Given the description of an element on the screen output the (x, y) to click on. 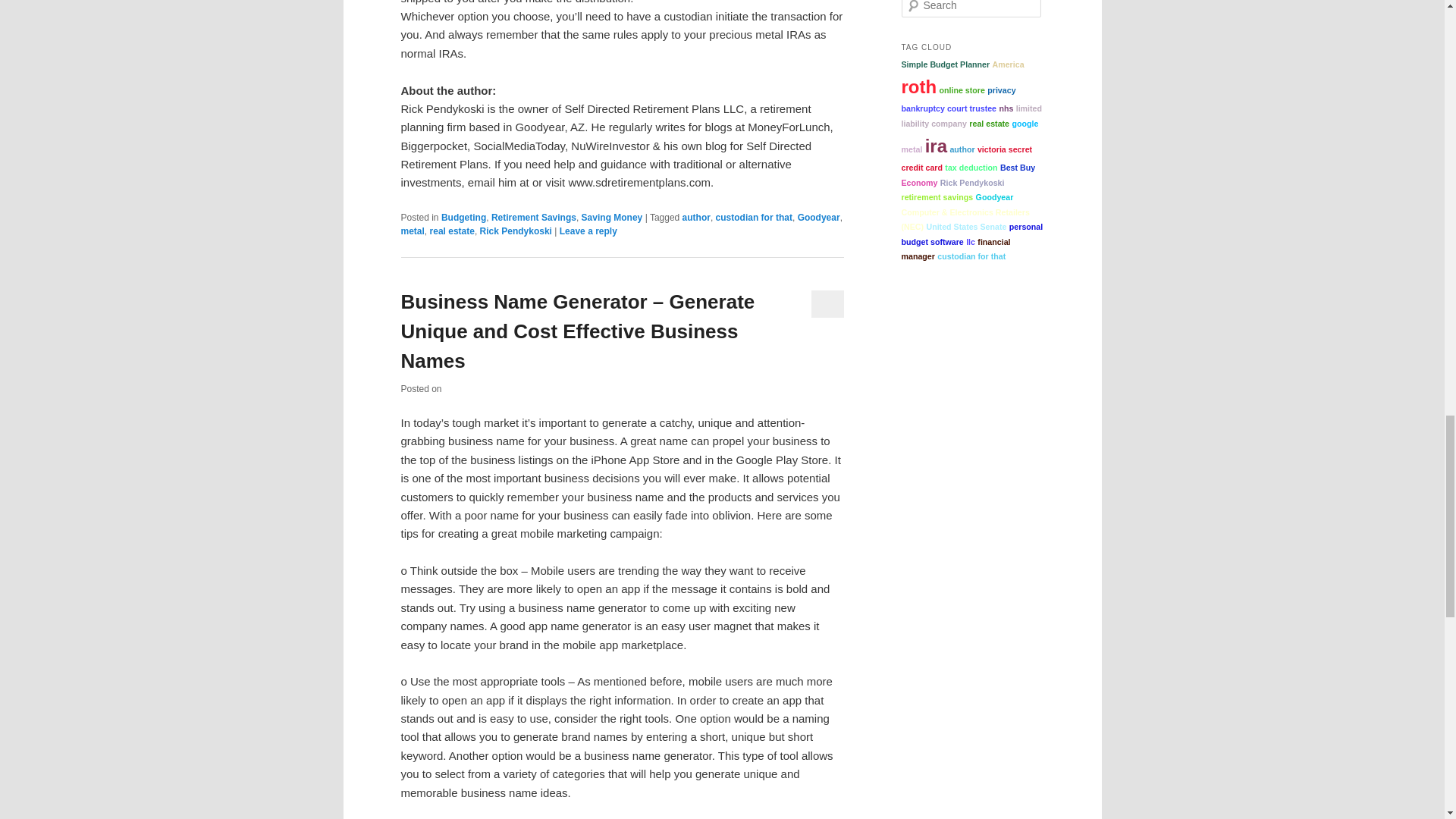
Leave a reply (588, 231)
Retirement Savings (534, 217)
real estate (451, 231)
metal (411, 231)
custodian for that (754, 217)
Rick Pendykoski (515, 231)
author (696, 217)
Goodyear (818, 217)
Budgeting (463, 217)
Saving Money (611, 217)
